Given the description of an element on the screen output the (x, y) to click on. 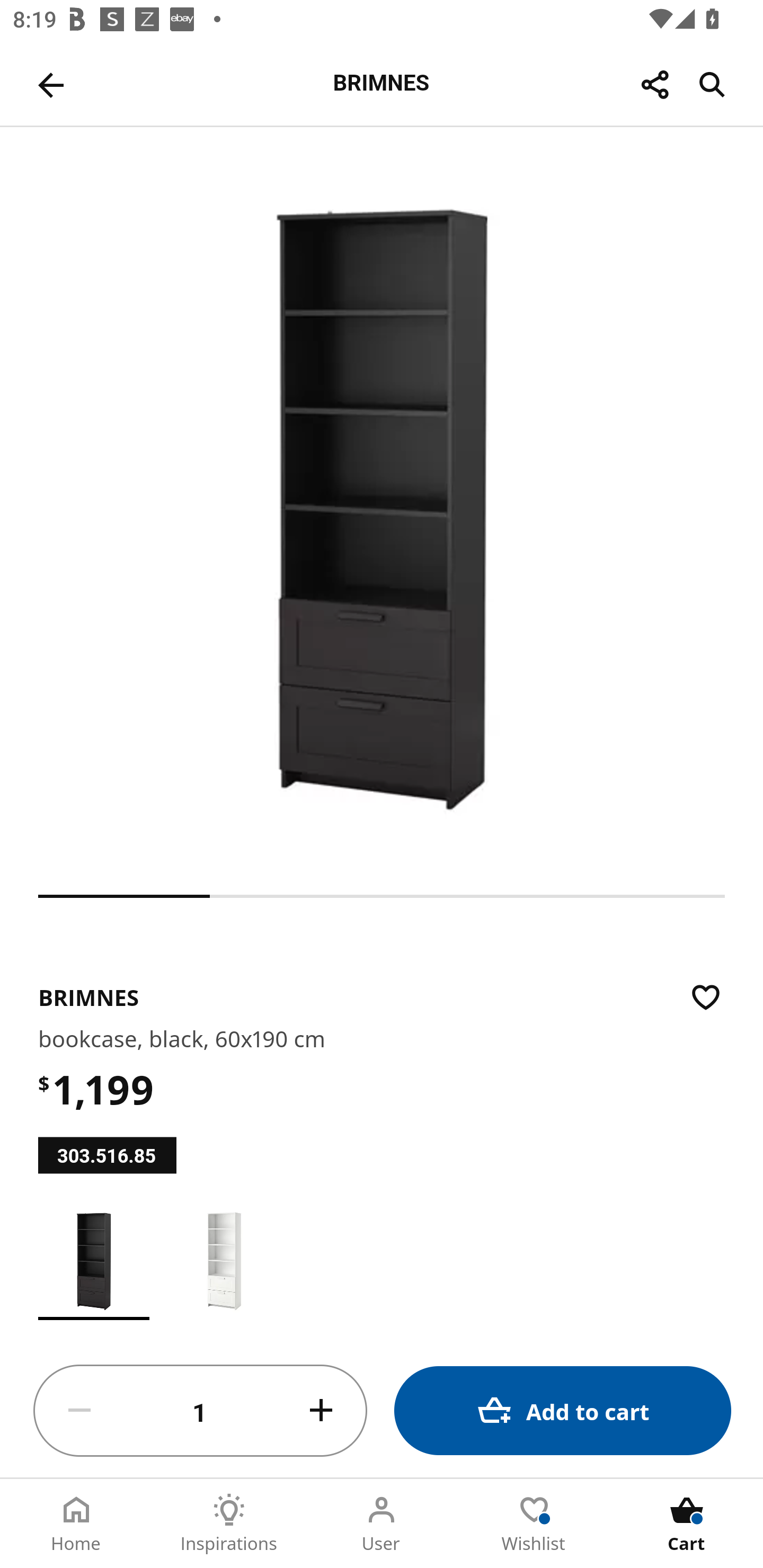
Add to cart (562, 1410)
1 (200, 1411)
Home
Tab 1 of 5 (76, 1522)
Inspirations
Tab 2 of 5 (228, 1522)
User
Tab 3 of 5 (381, 1522)
Wishlist
Tab 4 of 5 (533, 1522)
Cart
Tab 5 of 5 (686, 1522)
